Given the description of an element on the screen output the (x, y) to click on. 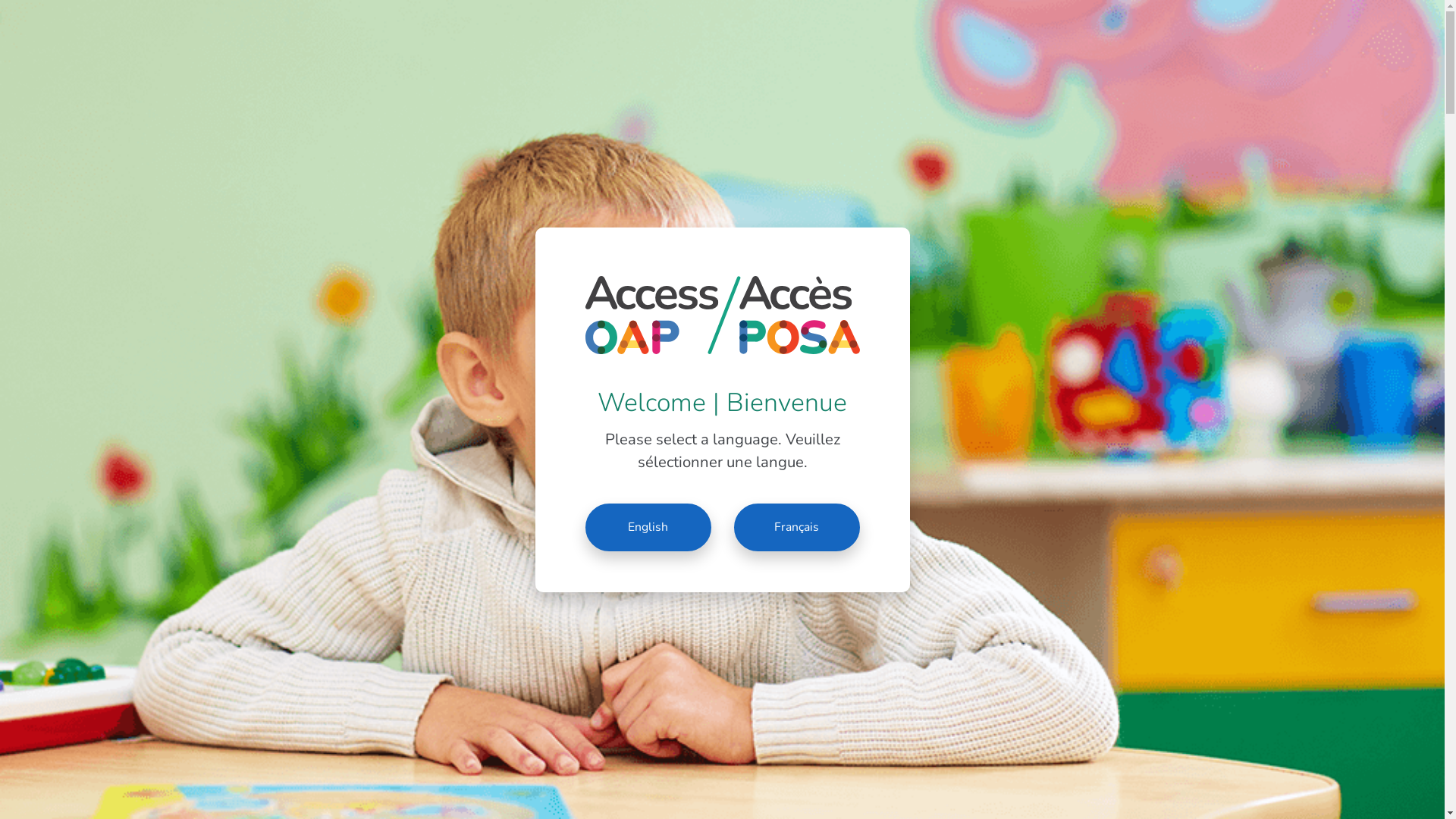
Families Element type: text (892, 76)
Family Portal Element type: text (1191, 21)
FAQs Element type: text (1277, 76)
Public Element type: text (1115, 21)
Search Element type: text (22, 10)
English Element type: text (648, 527)
Login Element type: text (1373, 77)
OAP Services Element type: text (1089, 76)
Providers Element type: text (981, 76)
About Us Element type: text (1197, 76)
